Given the description of an element on the screen output the (x, y) to click on. 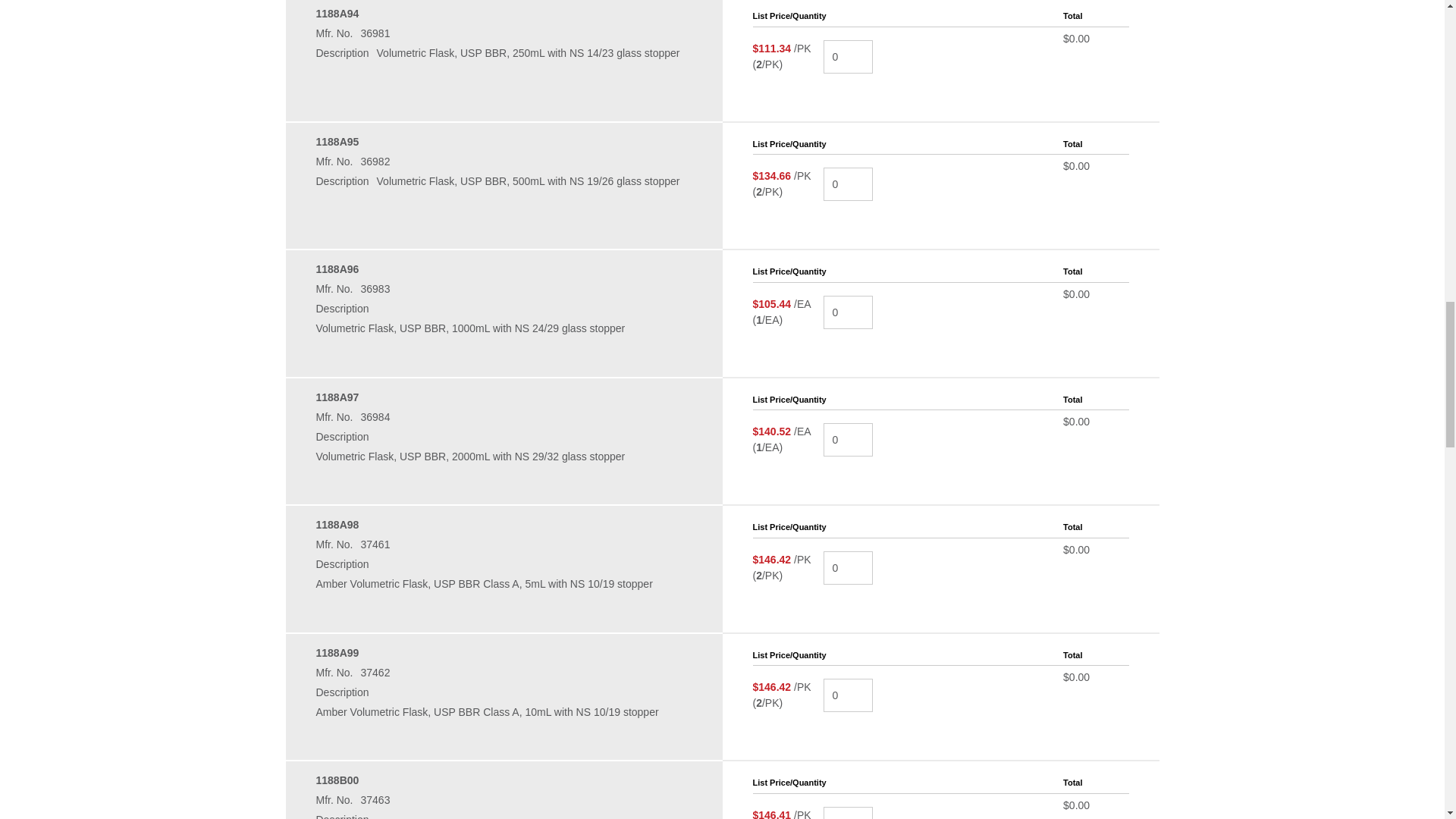
0 (848, 183)
0 (848, 812)
0 (848, 55)
0 (848, 439)
0 (848, 694)
0 (848, 312)
0 (848, 566)
